Given the description of an element on the screen output the (x, y) to click on. 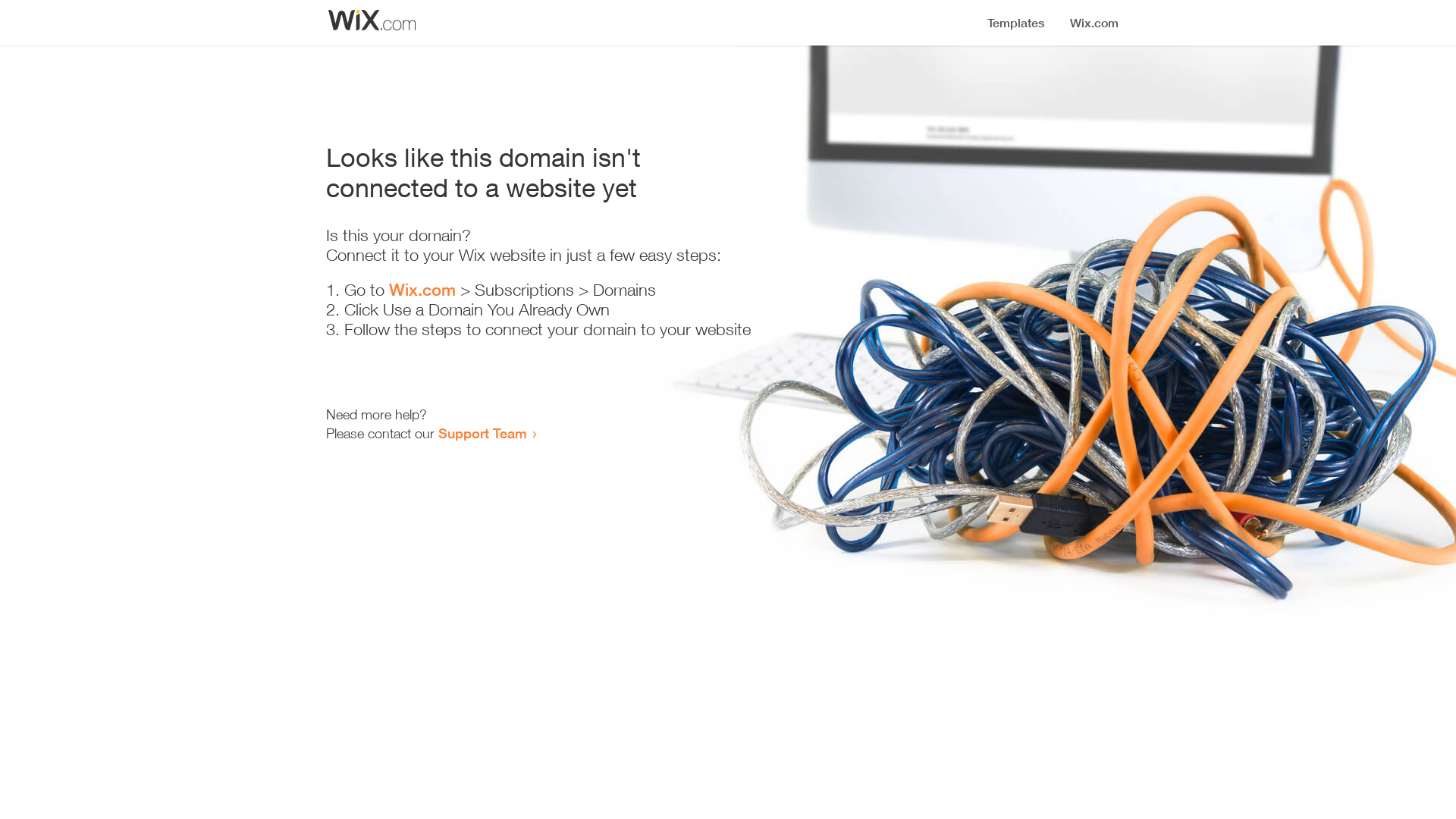
Wix.com Element type: text (422, 289)
Support Team Element type: text (482, 432)
